Given the description of an element on the screen output the (x, y) to click on. 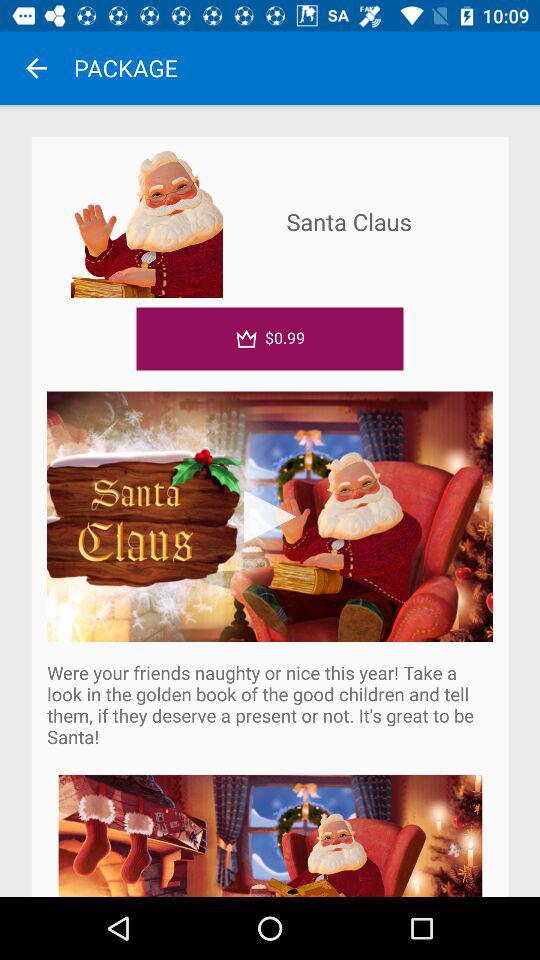
flip to the were your friends (269, 704)
